Given the description of an element on the screen output the (x, y) to click on. 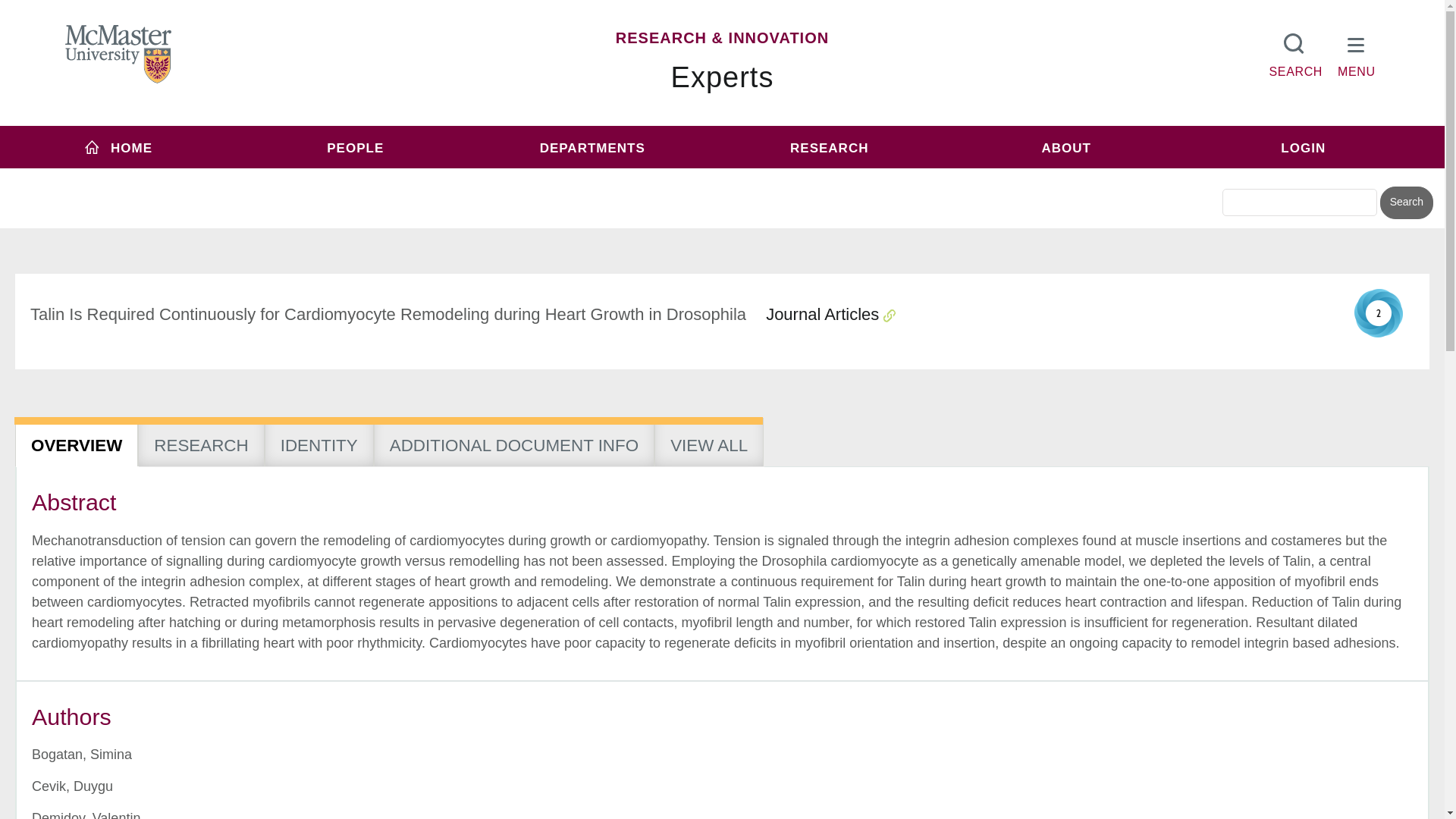
MCMASTER LOGO (118, 54)
SEARCH (1295, 51)
People menu item (355, 147)
inurl:experts.mcmaster.ca (601, 175)
Departments menu item (592, 147)
Home menu item (118, 147)
inurl:mcmaster.ca (829, 175)
Research menu item (829, 147)
Search (1406, 202)
Experts (722, 77)
About menu item (1066, 147)
McMaster Univeristy Logo (118, 54)
MENU (1356, 51)
